Given the description of an element on the screen output the (x, y) to click on. 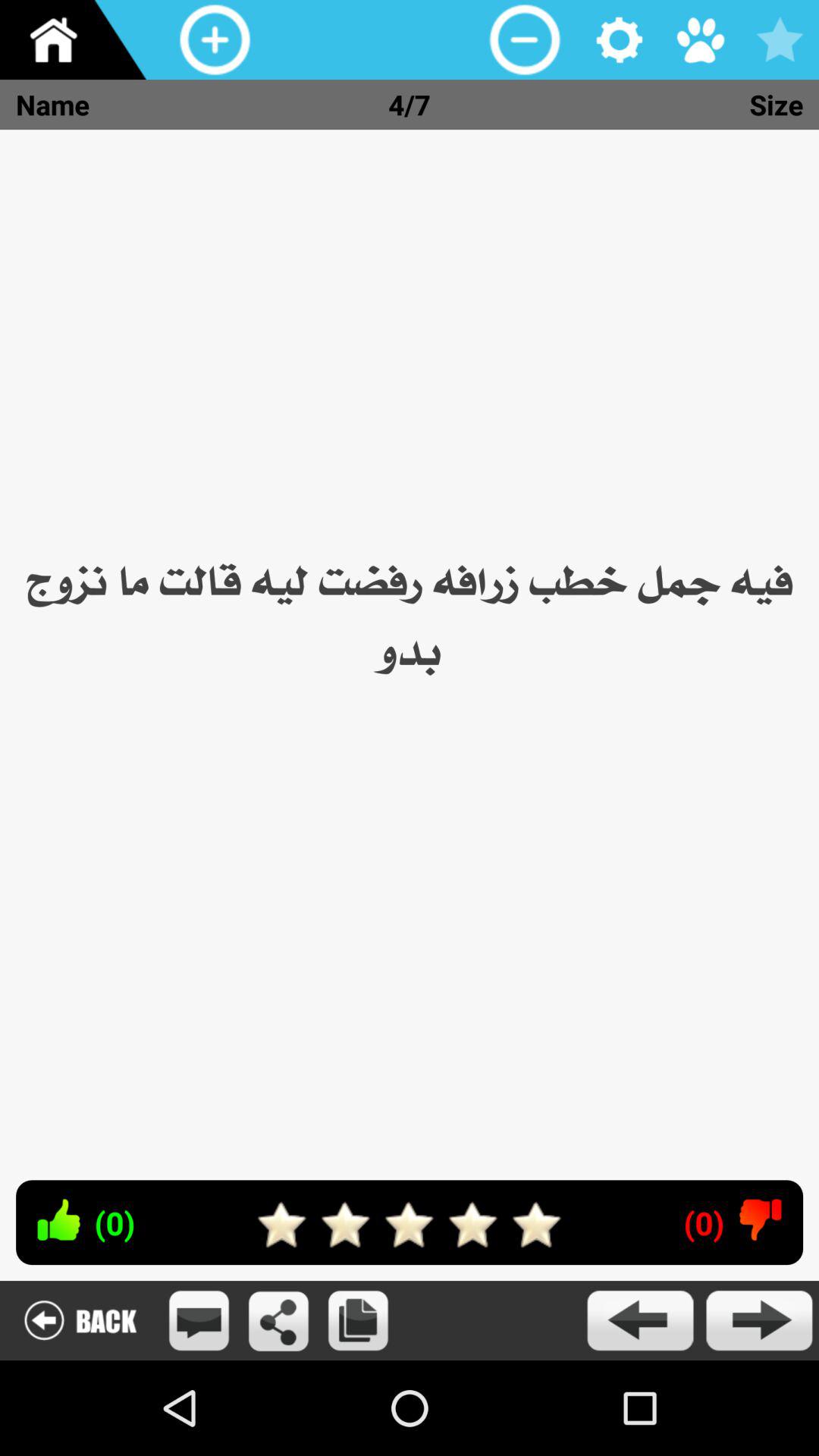
go to previous (639, 1320)
